Given the description of an element on the screen output the (x, y) to click on. 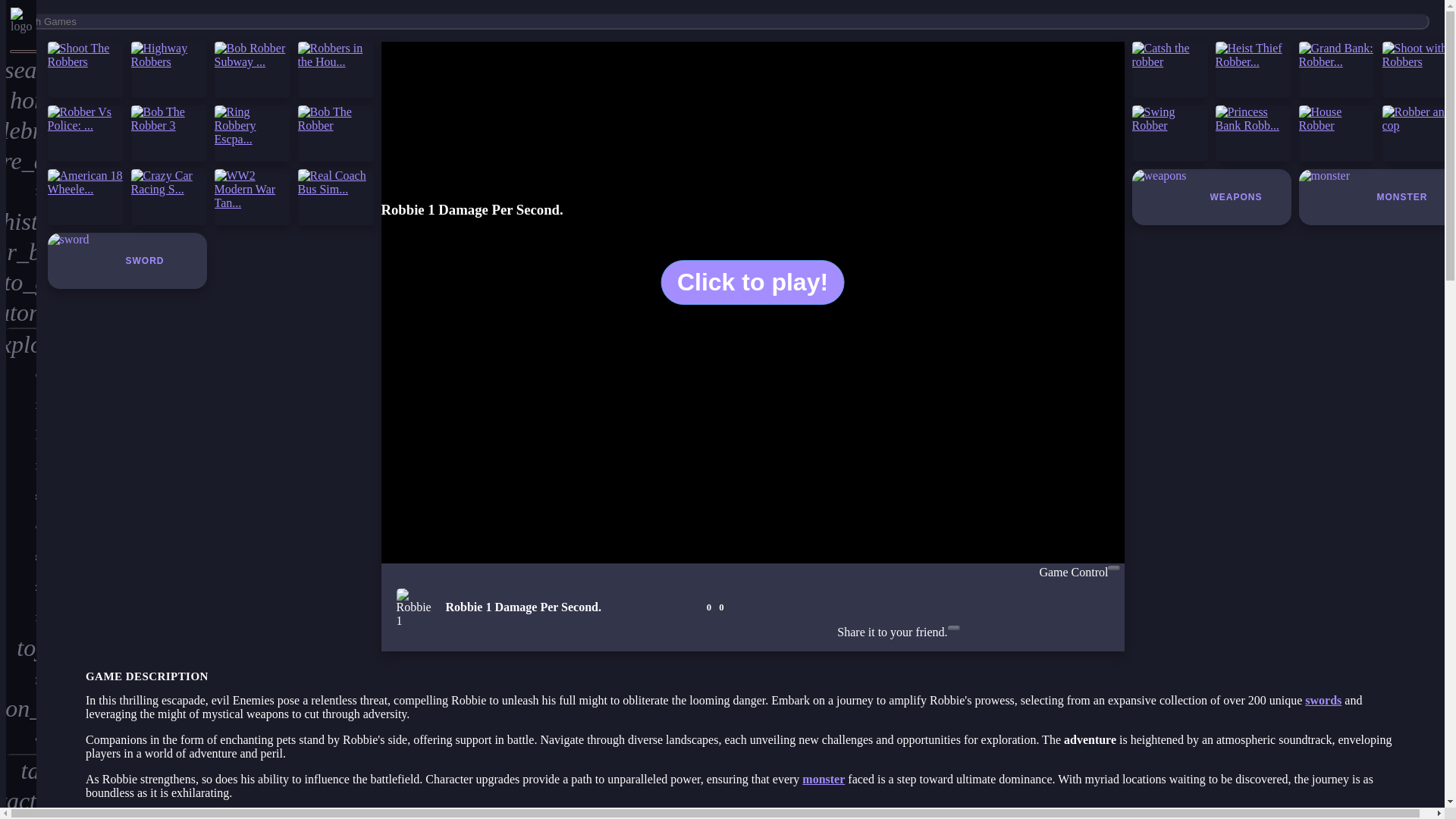
tag (20, 770)
escape (20, 739)
dinosaur (20, 526)
shooting (20, 556)
zombie (20, 586)
dress up (20, 374)
racing (20, 616)
history (20, 221)
html5 (20, 435)
autorenew (20, 313)
celebration (20, 130)
toys (20, 647)
minecraft (20, 465)
gun (20, 677)
most liked (20, 191)
